Given the description of an element on the screen output the (x, y) to click on. 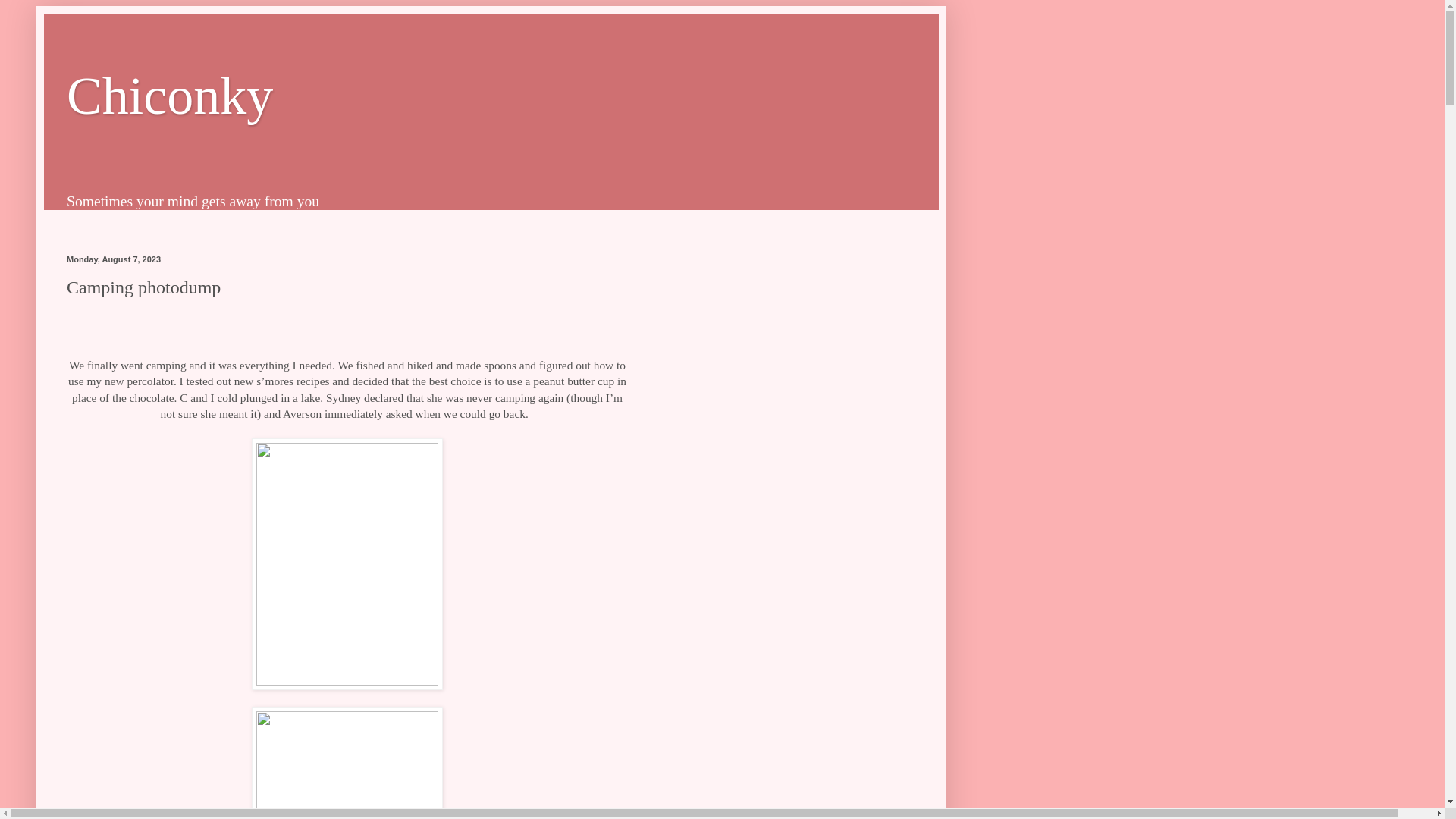
Chiconky (169, 95)
